Given the description of an element on the screen output the (x, y) to click on. 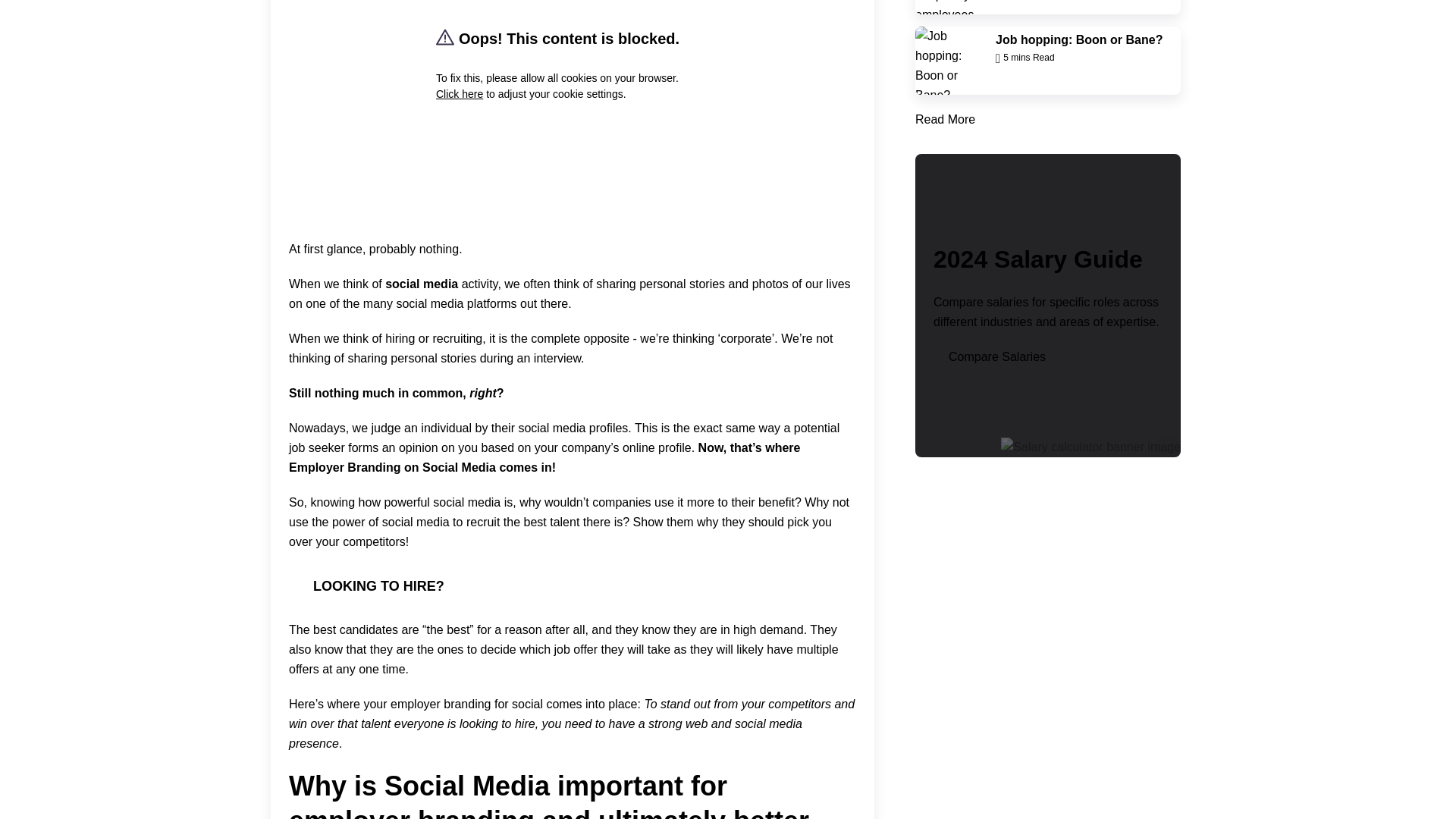
Job hopping: Boon or Bane? (949, 60)
Hiring seasonal temporary employees (949, 7)
